Given the description of an element on the screen output the (x, y) to click on. 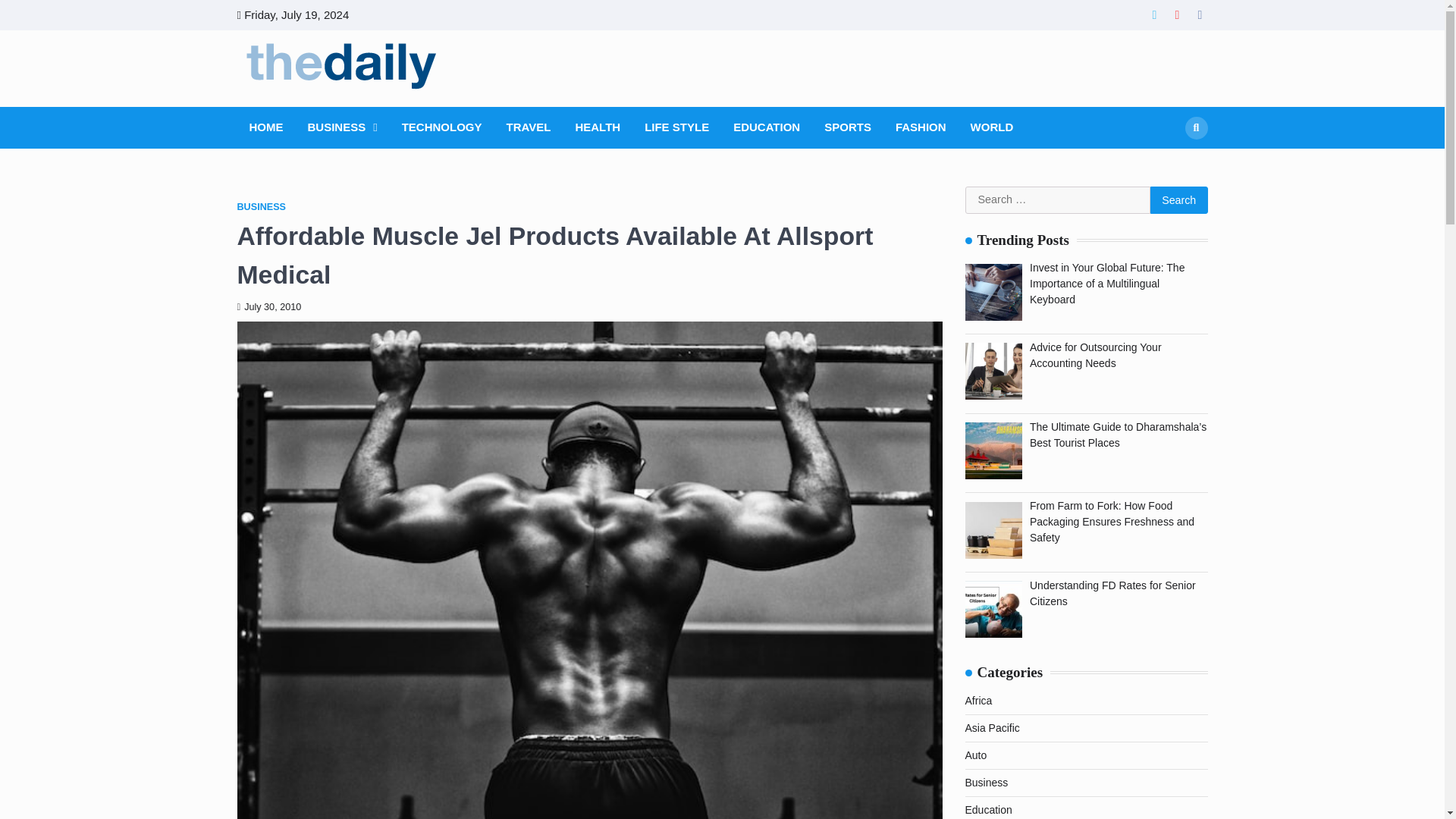
Understanding FD Rates for Senior Citizens (1112, 593)
SPORTS (847, 127)
Search (1168, 163)
Search (1196, 128)
Advice for Outsourcing Your Accounting Needs (1095, 355)
July 30, 2010 (268, 307)
Search (1179, 199)
TECHNOLOGY (441, 127)
Twitter (1154, 14)
Search (1179, 199)
EDUCATION (766, 127)
Africa (977, 700)
Search (1179, 199)
FASHION (920, 127)
